Given the description of an element on the screen output the (x, y) to click on. 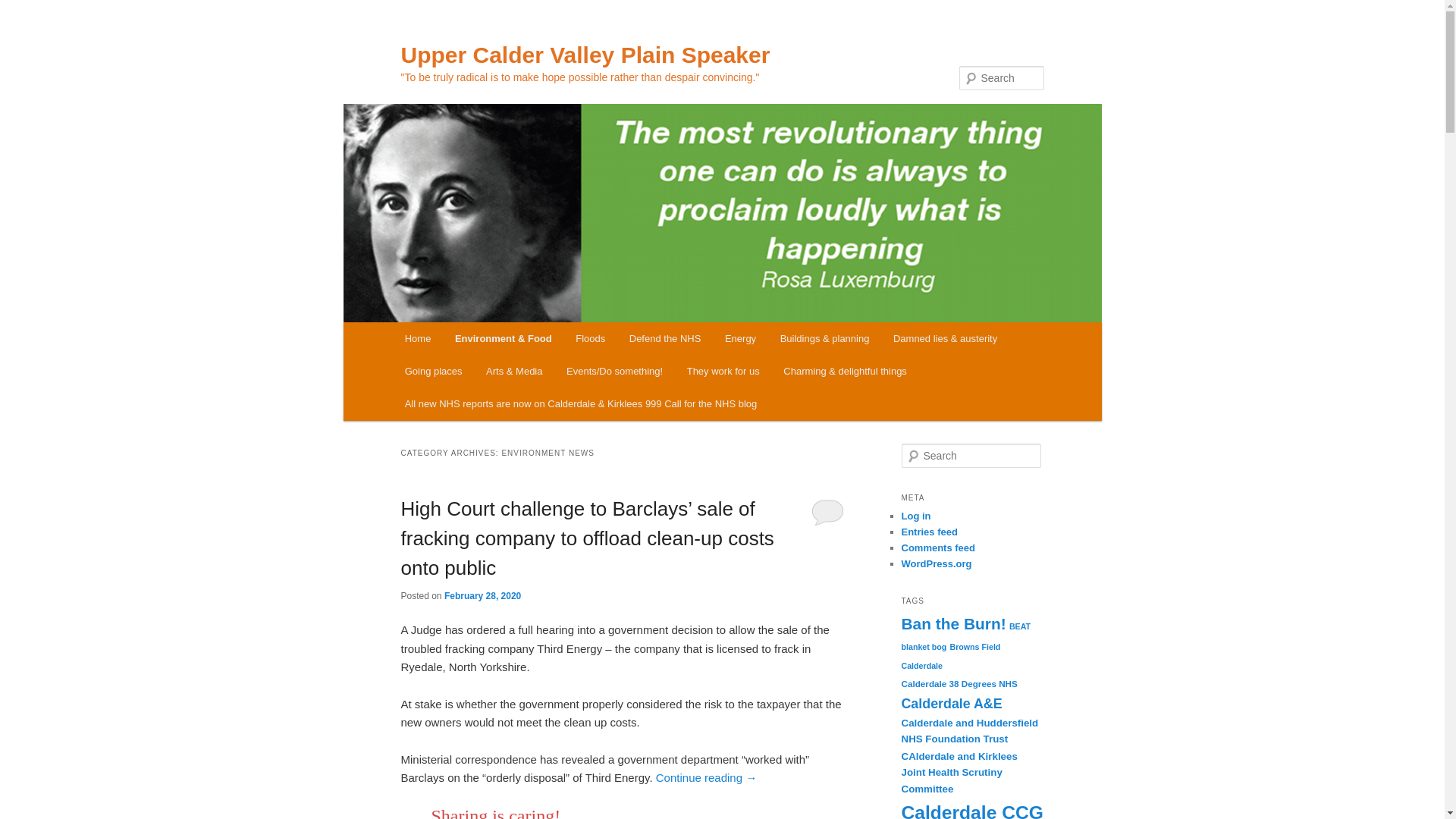
They work for us (723, 370)
Search (24, 8)
Energy (740, 338)
3:29 pm (482, 595)
Floods (590, 338)
Home (417, 338)
Defend the NHS (665, 338)
Going places (433, 370)
Upper Calder Valley Plain Speaker (585, 54)
